Given the description of an element on the screen output the (x, y) to click on. 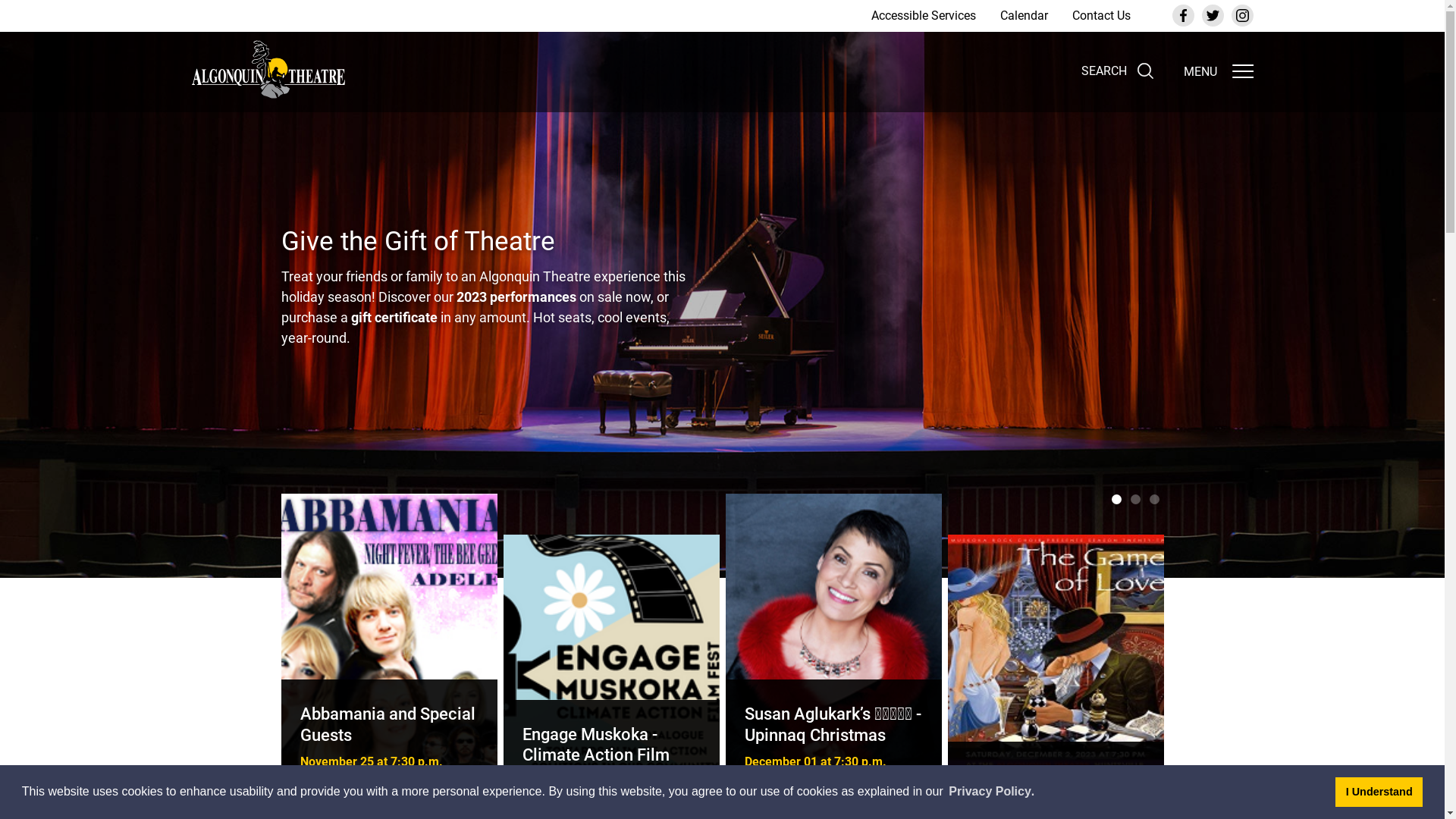
learn more about cookies on our
Privacy Policy
page
. Element type: text (991, 791)
SEARCH Element type: text (1117, 70)
Slide 2 Element type: text (1134, 499)
Skip to Content Element type: text (0, 0)
I Understand
- dismiss cookie message Element type: text (1378, 791)
Accessible Services Element type: text (922, 15)
algonquintheatre.ca/contact Element type: text (444, 327)
Algonquin Theatre stage Element type: hover (722, 288)
Slide 3 Element type: text (1154, 499)
Slide 1 Element type: text (1116, 499)
Calendar Element type: text (1023, 15)
Click to return to the homepage Element type: hover (274, 68)
View our Homepage Element type: hover (274, 71)
Abbamania and Special Guests
November 25 at 7:30 p.m. Element type: text (388, 645)
Contact Us Element type: text (1101, 15)
